Given the description of an element on the screen output the (x, y) to click on. 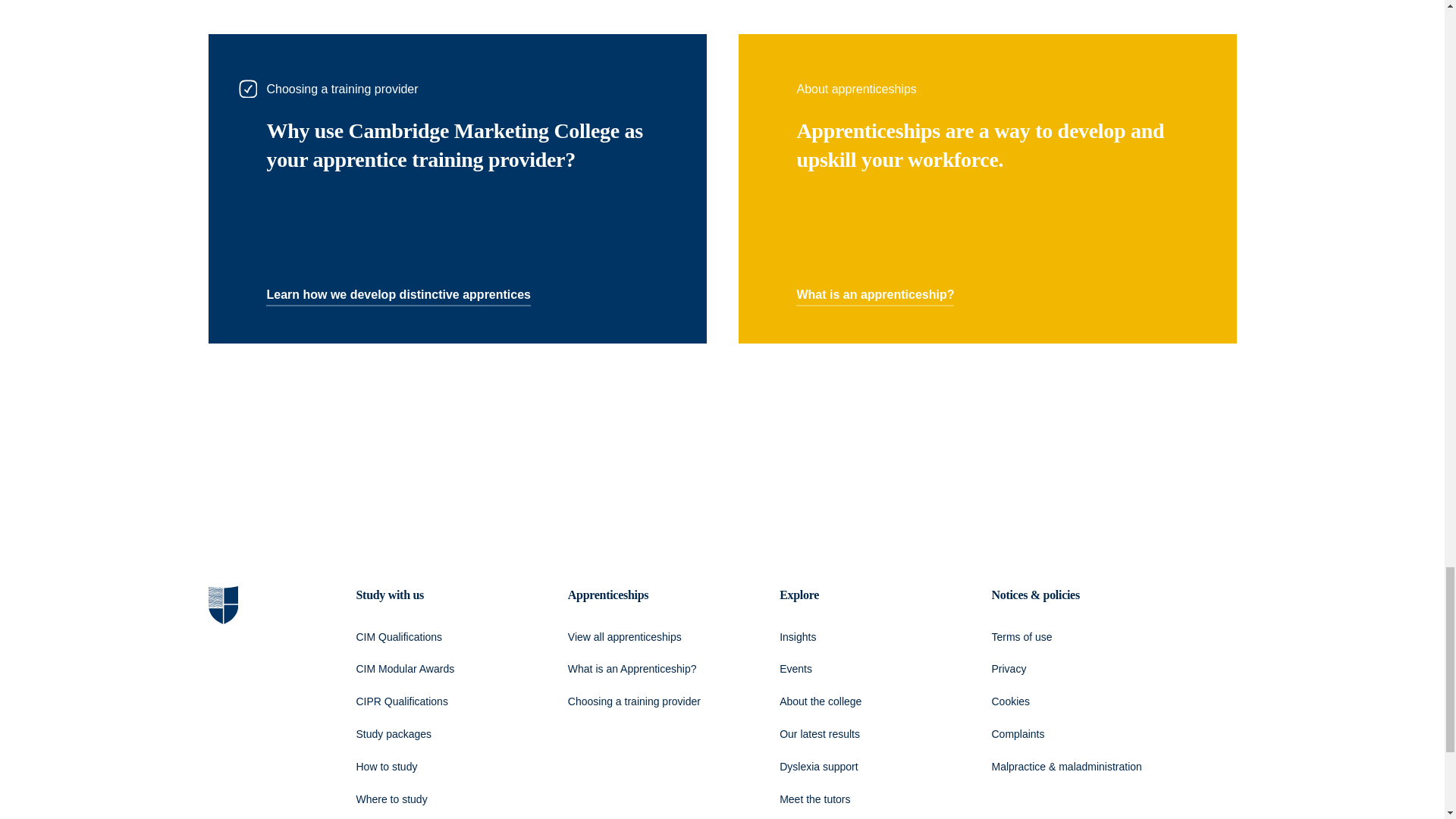
Learn how we develop distinctive apprentices (398, 295)
